Given the description of an element on the screen output the (x, y) to click on. 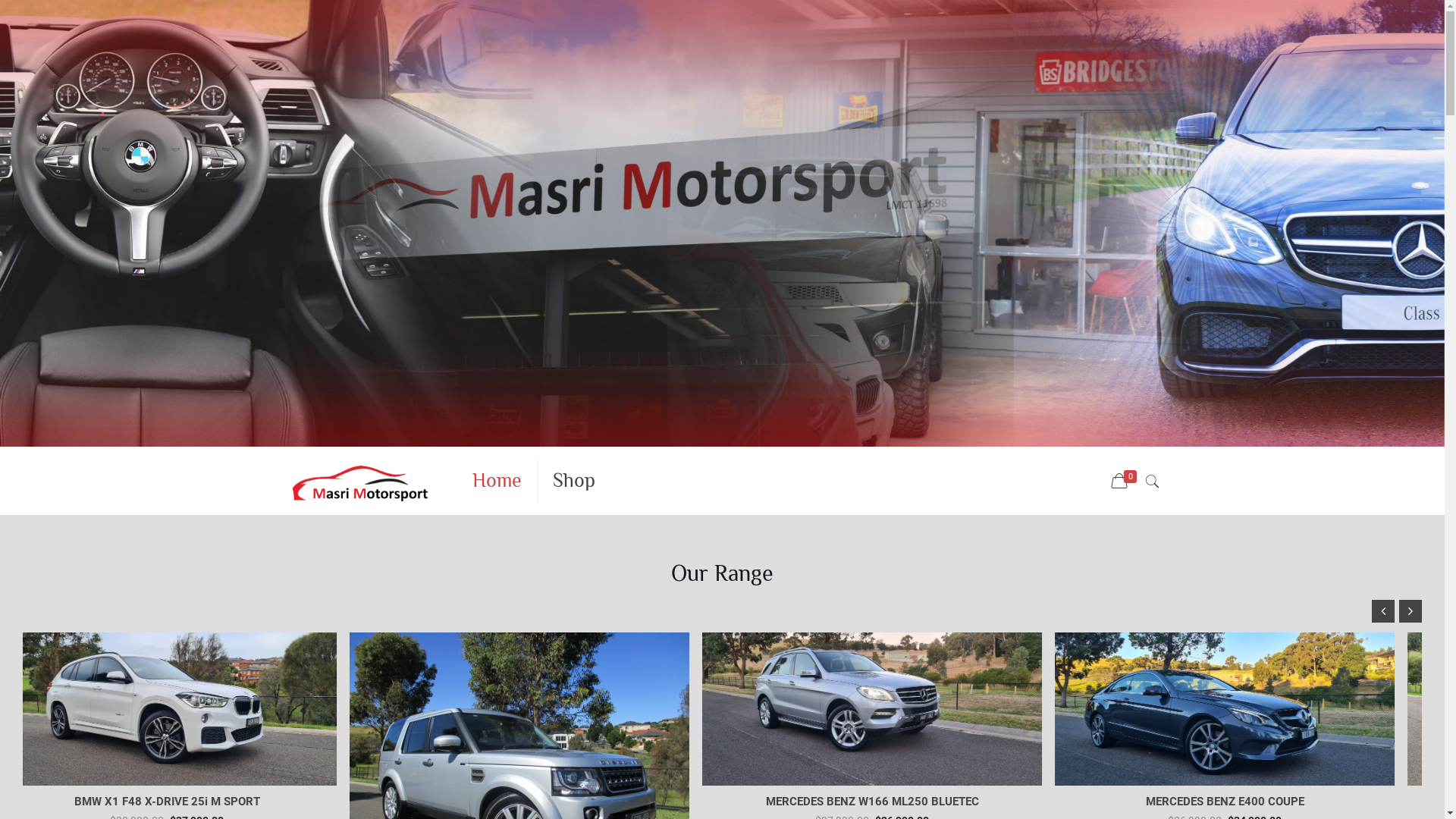
MERCEDES BENZ W176 A180 AMG PACK Element type: text (1250, 801)
MERCEDES BENZ E400 COUPE Element type: text (898, 801)
Shop Element type: text (573, 480)
Masri Motosport Element type: hover (359, 480)
0 Element type: text (1125, 481)
Home Element type: text (497, 480)
MERCEDES BENZ W166 ML250 BLUETEC Element type: text (545, 801)
